Given the description of an element on the screen output the (x, y) to click on. 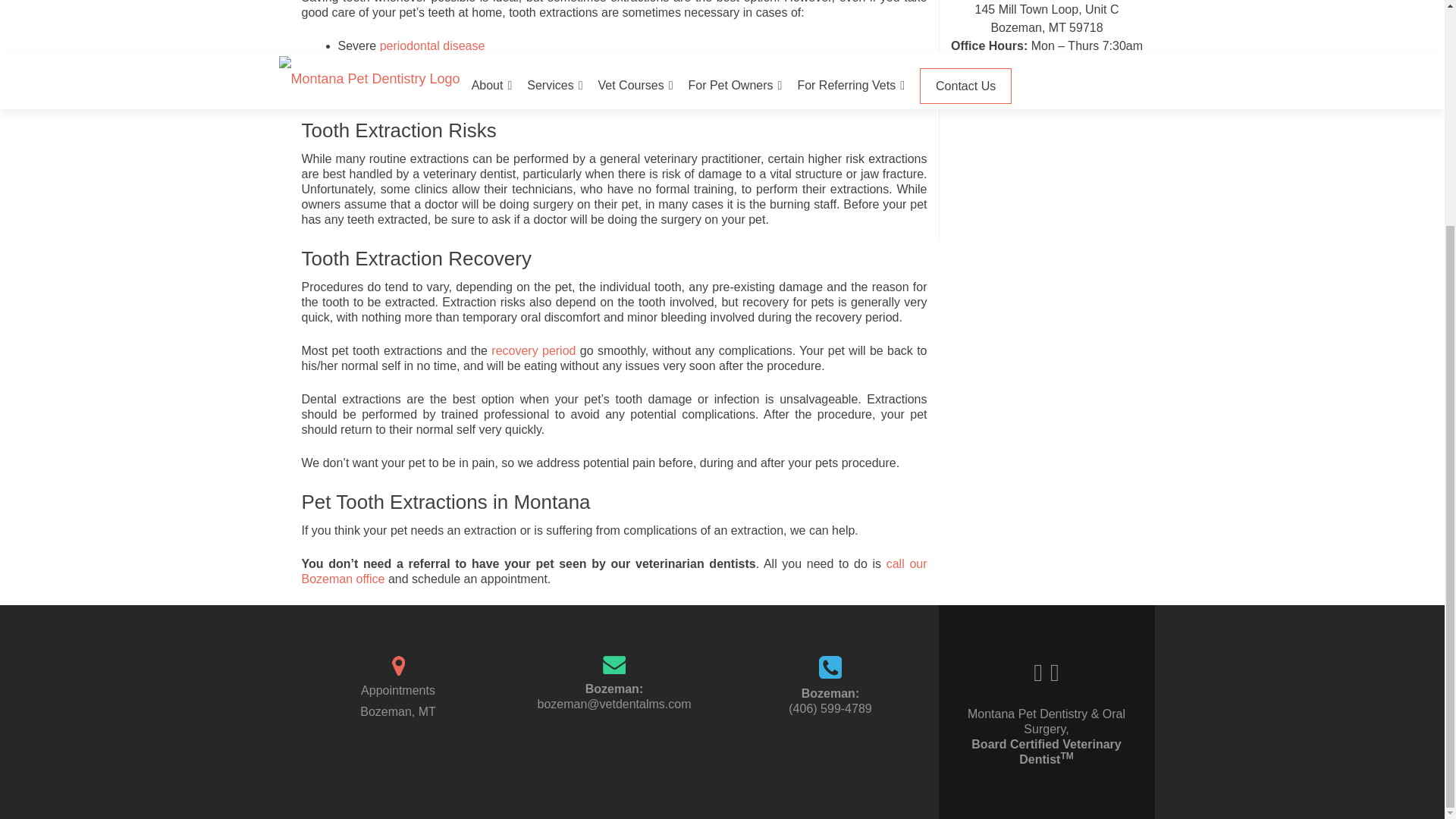
recovery period (533, 350)
periodontal disease (432, 45)
